Given the description of an element on the screen output the (x, y) to click on. 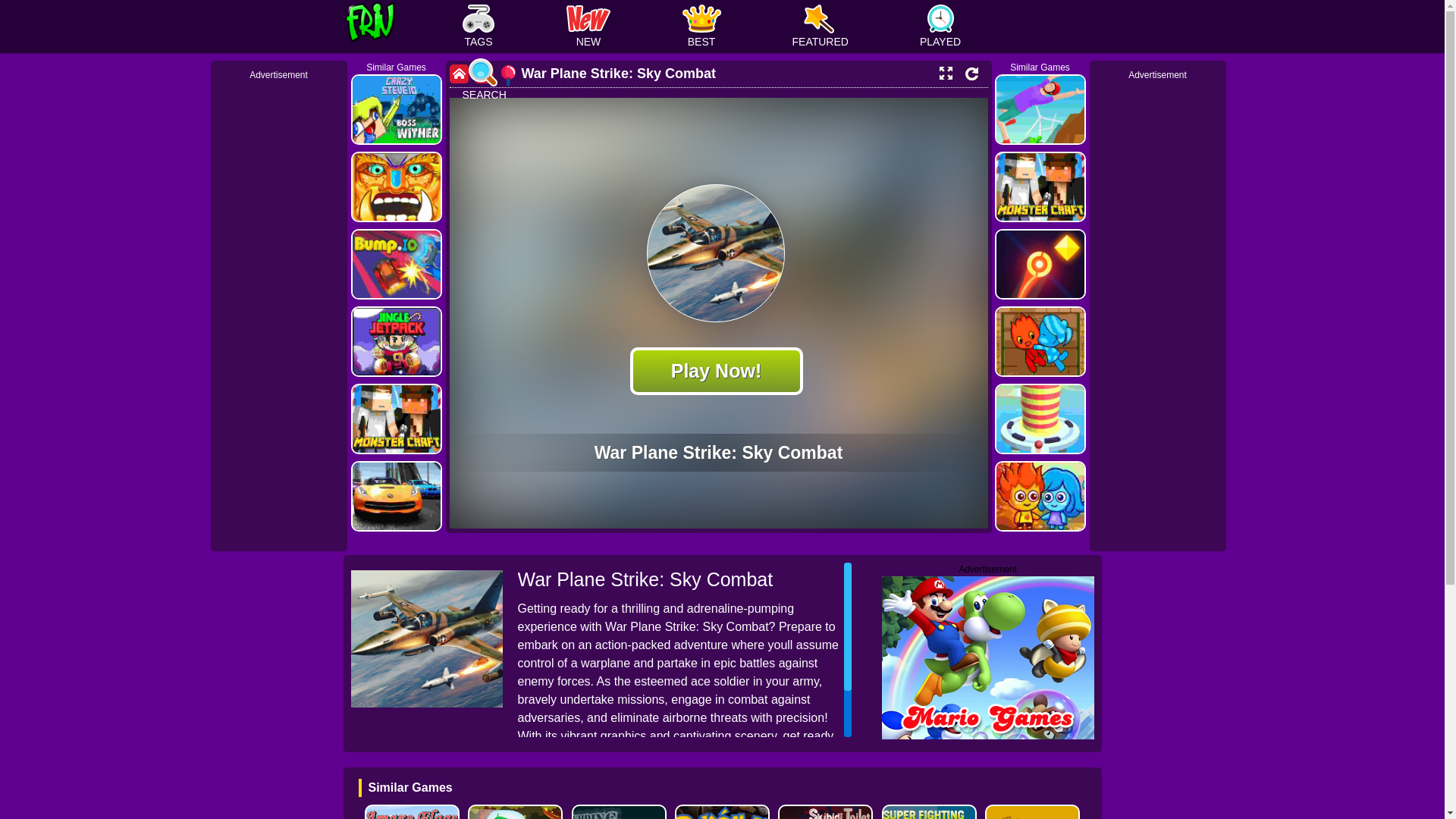
NEW (587, 26)
SEARCH (483, 79)
PLAYED (939, 26)
Play Best Free Online Games (403, 26)
FEATURED (819, 26)
BEST (701, 26)
TAGS (478, 26)
Replay this game (969, 73)
Play game fullscreen (945, 73)
War Plane Strike: Sky Combat (607, 73)
